Given the description of an element on the screen output the (x, y) to click on. 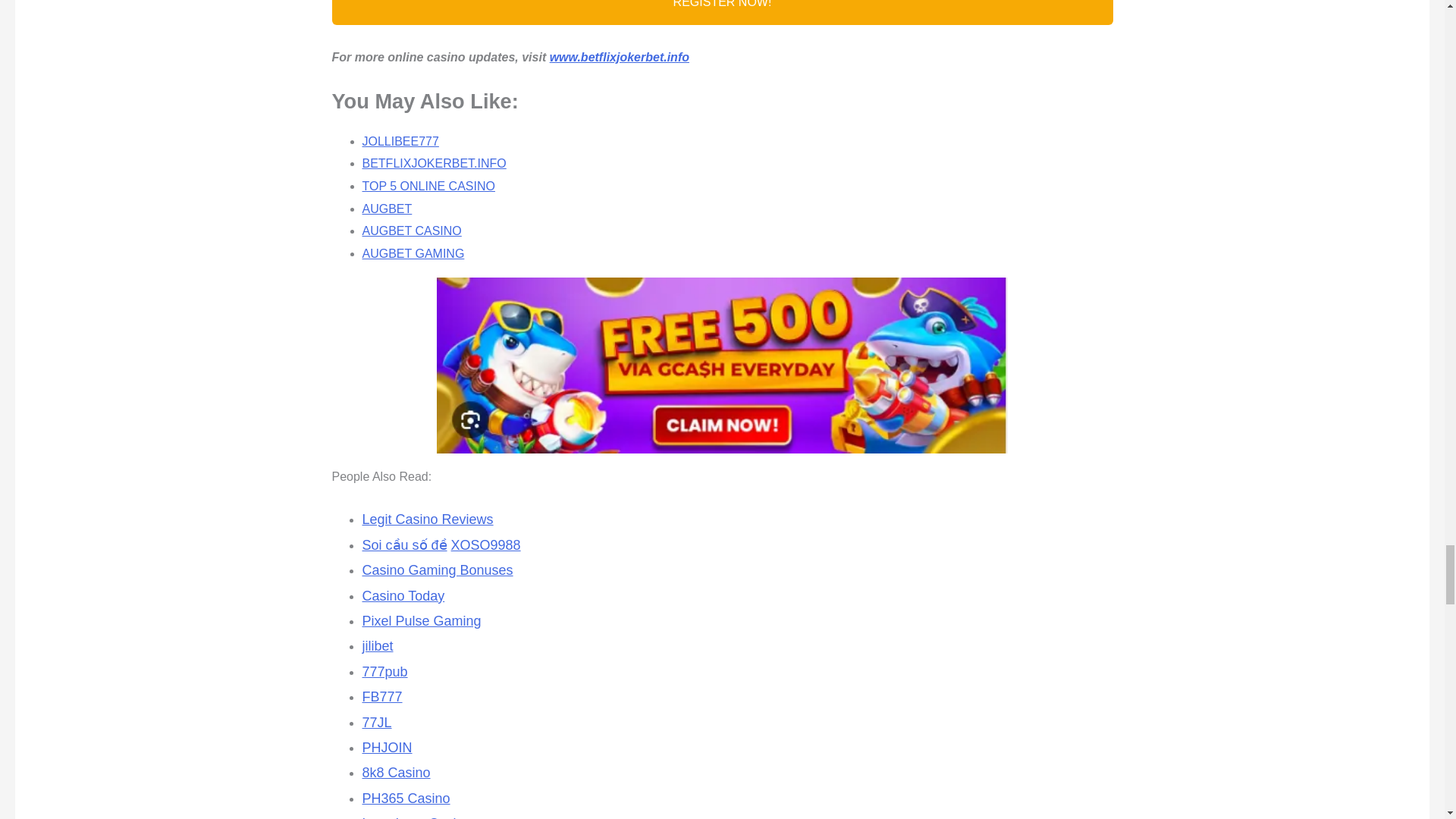
JOLLIBEE777 (400, 141)
TOP 5 ONLINE CASINO (428, 185)
AUGBET CASINO (411, 230)
AUGBET (387, 208)
Legit Casino Reviews (427, 519)
AUGBET GAMING (413, 253)
www.betflixjokerbet.info (619, 56)
REGISTER NOW! (722, 12)
BETFLIXJOKERBET.INFO (434, 163)
